Given the description of an element on the screen output the (x, y) to click on. 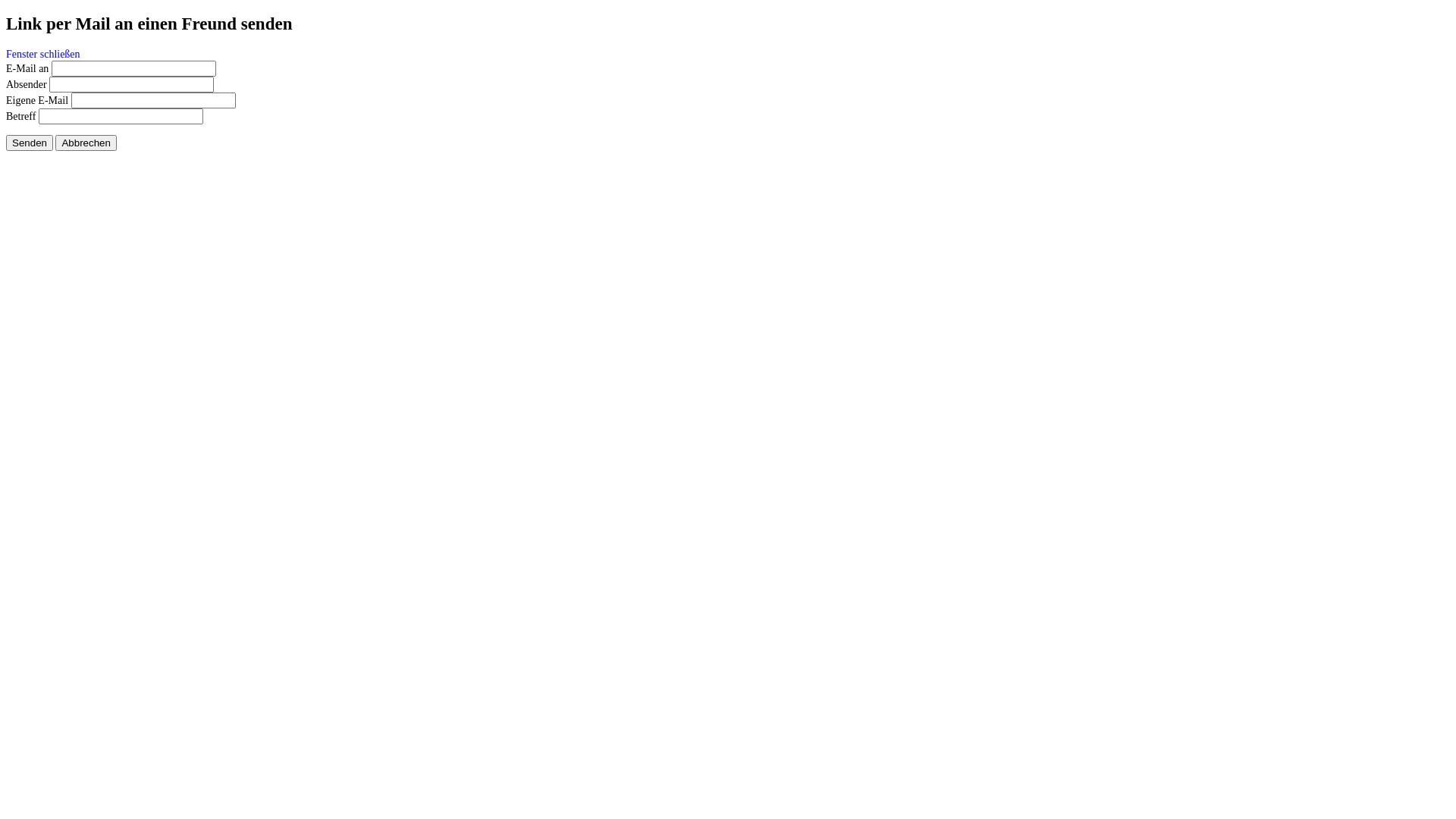
Abbrechen Element type: text (85, 142)
Senden Element type: text (29, 142)
